Given the description of an element on the screen output the (x, y) to click on. 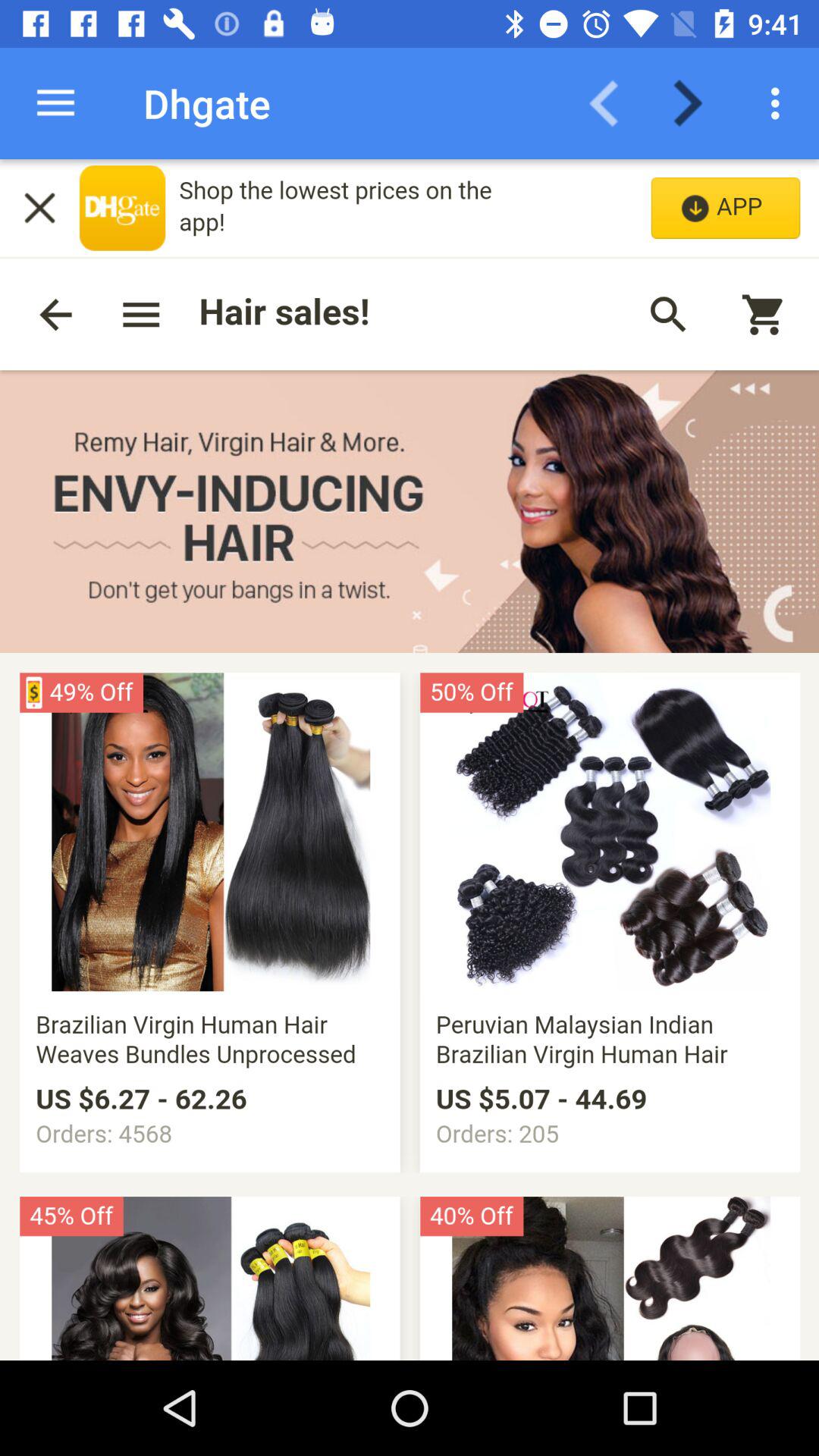
next page (697, 103)
